Given the description of an element on the screen output the (x, y) to click on. 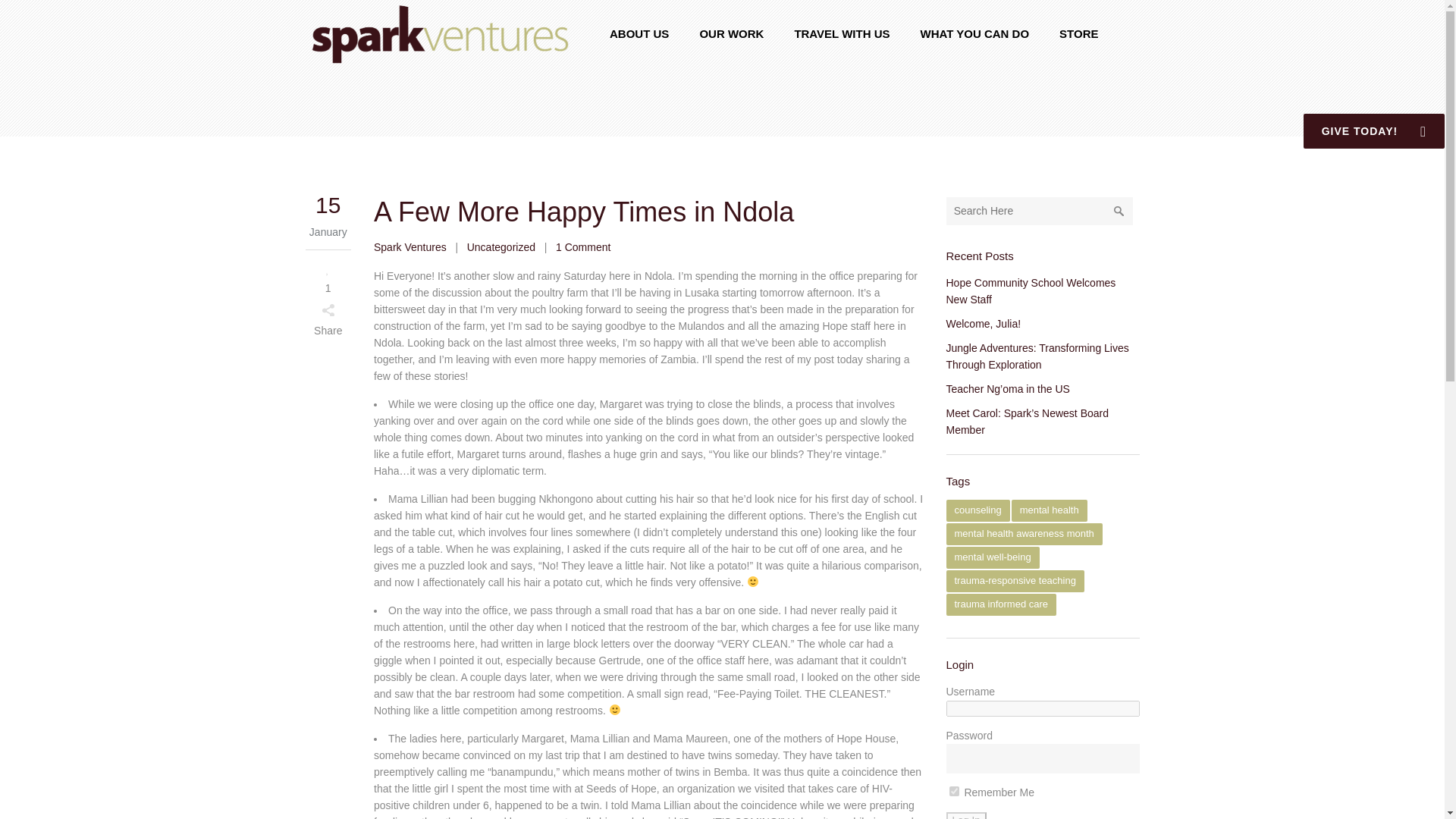
Search (1118, 211)
Log In (966, 815)
OUR WORK (731, 33)
Like this (327, 277)
TRAVEL WITH US (841, 33)
WHAT YOU CAN DO (973, 33)
ABOUT US (639, 33)
forever (954, 791)
